Given the description of an element on the screen output the (x, y) to click on. 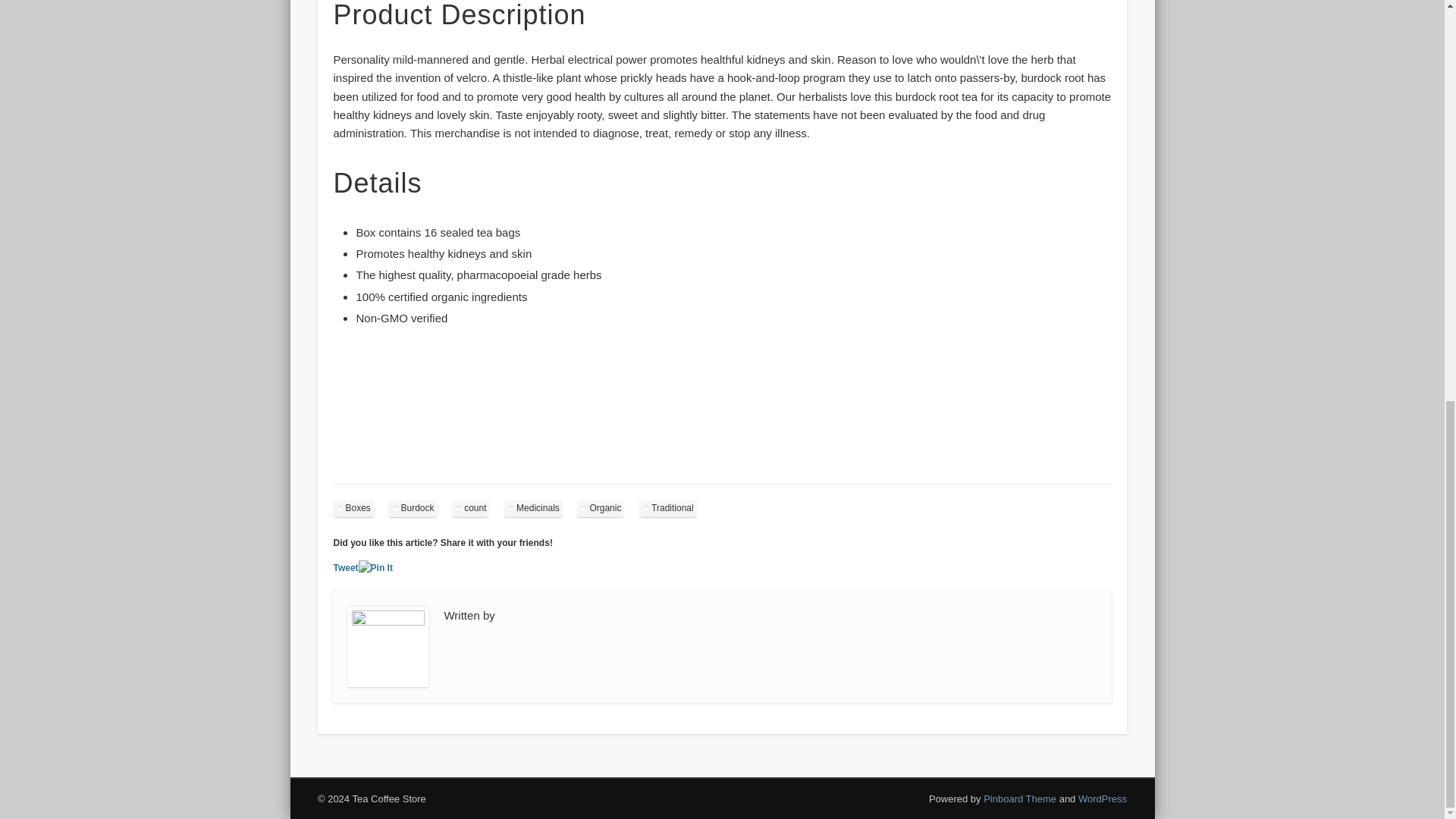
WordPress (1102, 798)
Pinboard Theme (1020, 798)
Pin It (375, 568)
